Given the description of an element on the screen output the (x, y) to click on. 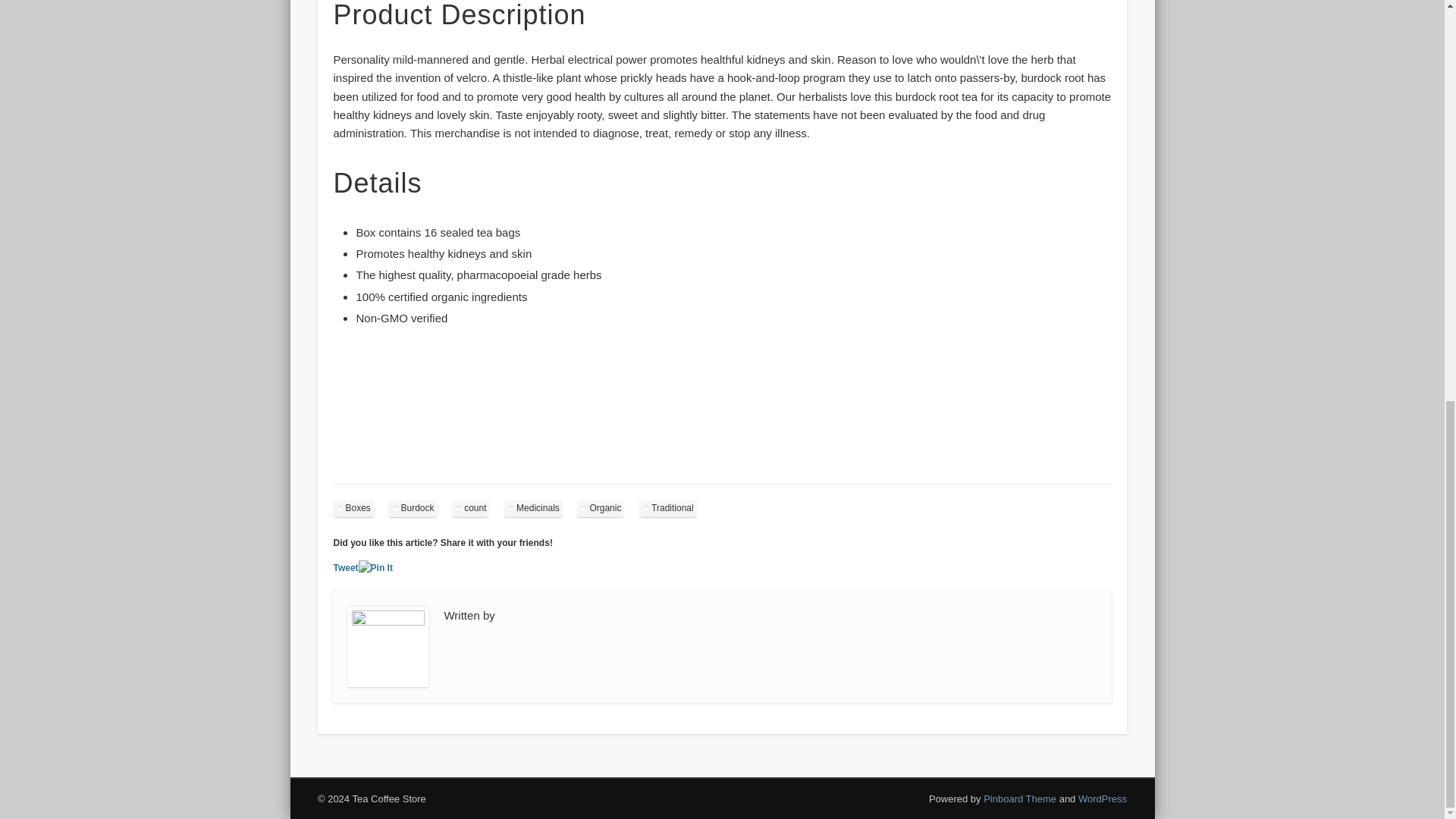
WordPress (1102, 798)
Pinboard Theme (1020, 798)
Pin It (375, 568)
